Given the description of an element on the screen output the (x, y) to click on. 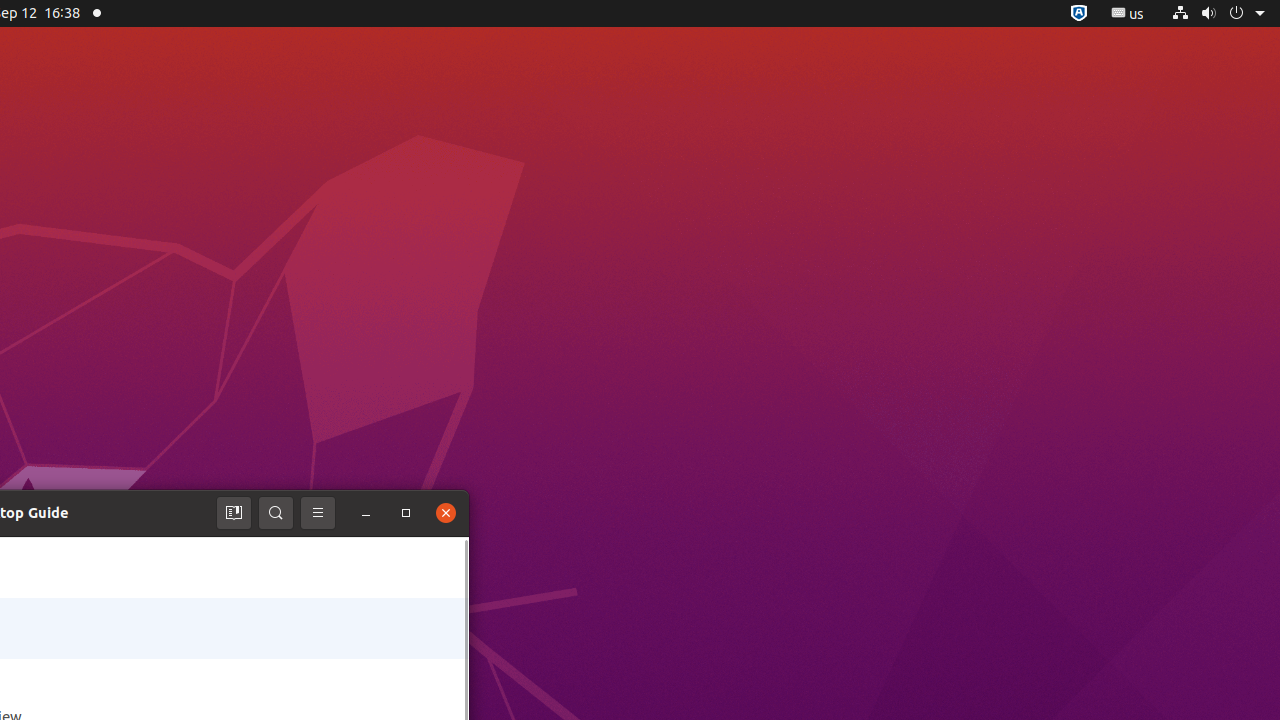
Menu Element type: toggle-button (318, 513)
Minimize Element type: push-button (366, 513)
